Given the description of an element on the screen output the (x, y) to click on. 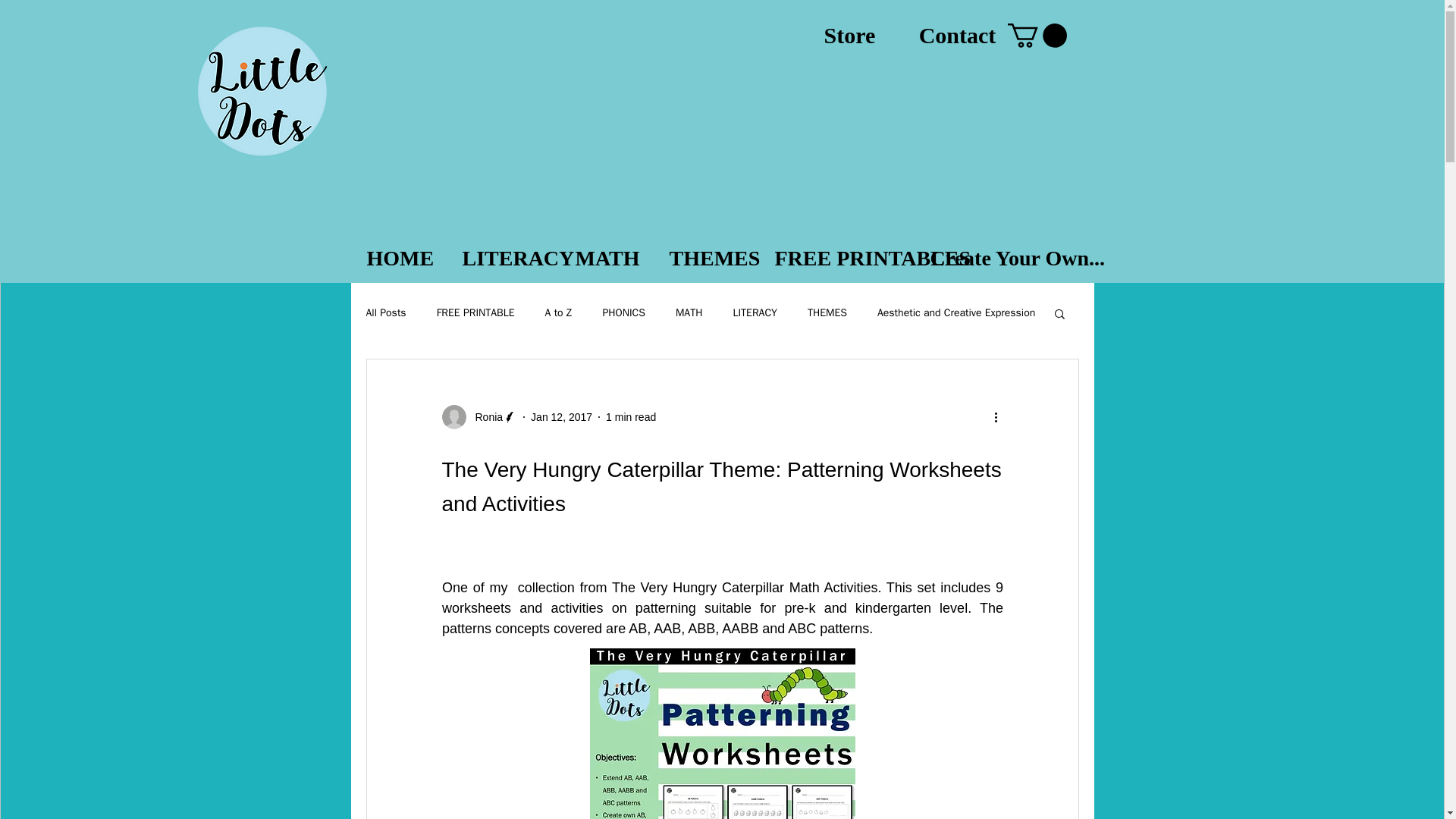
Ronia (483, 417)
FREE PRINTABLE (475, 313)
All Posts (385, 313)
A to Z (558, 313)
Contact (957, 35)
LITERACY (754, 313)
Aesthetic and Creative Expression (956, 313)
THEMES (705, 258)
Create Your Own... (1004, 258)
Store (850, 35)
